Given the description of an element on the screen output the (x, y) to click on. 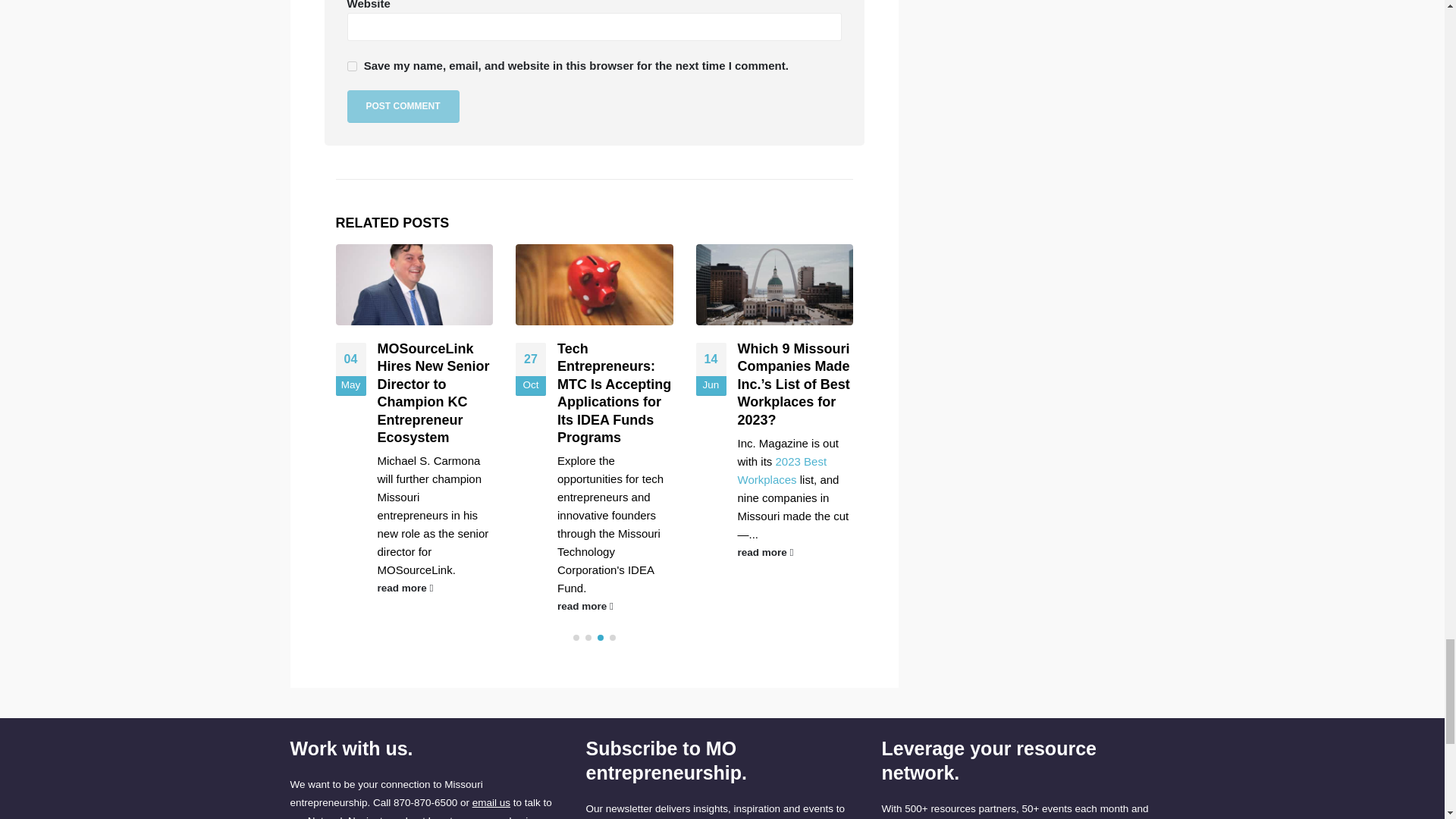
Post Comment (403, 106)
yes (351, 66)
